Given the description of an element on the screen output the (x, y) to click on. 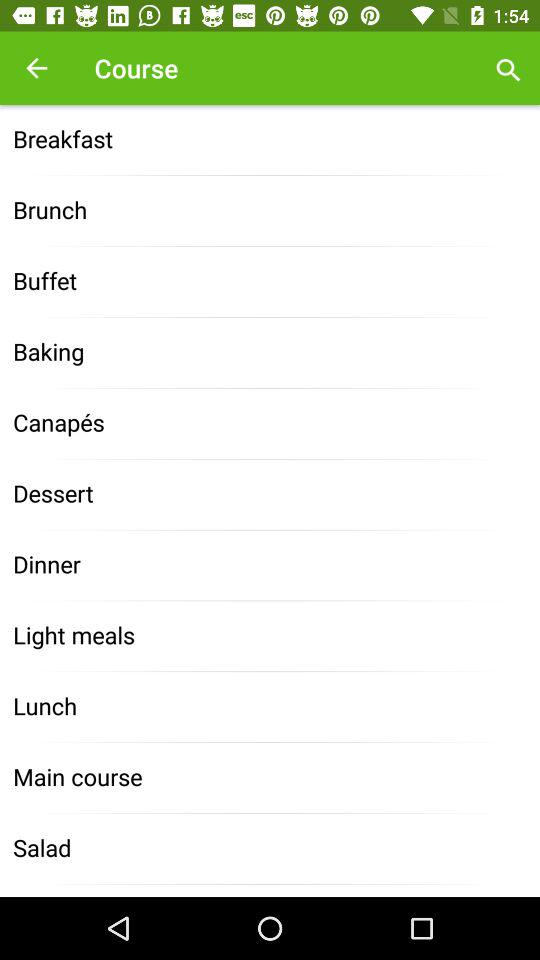
select icon above lunch (270, 636)
